Given the description of an element on the screen output the (x, y) to click on. 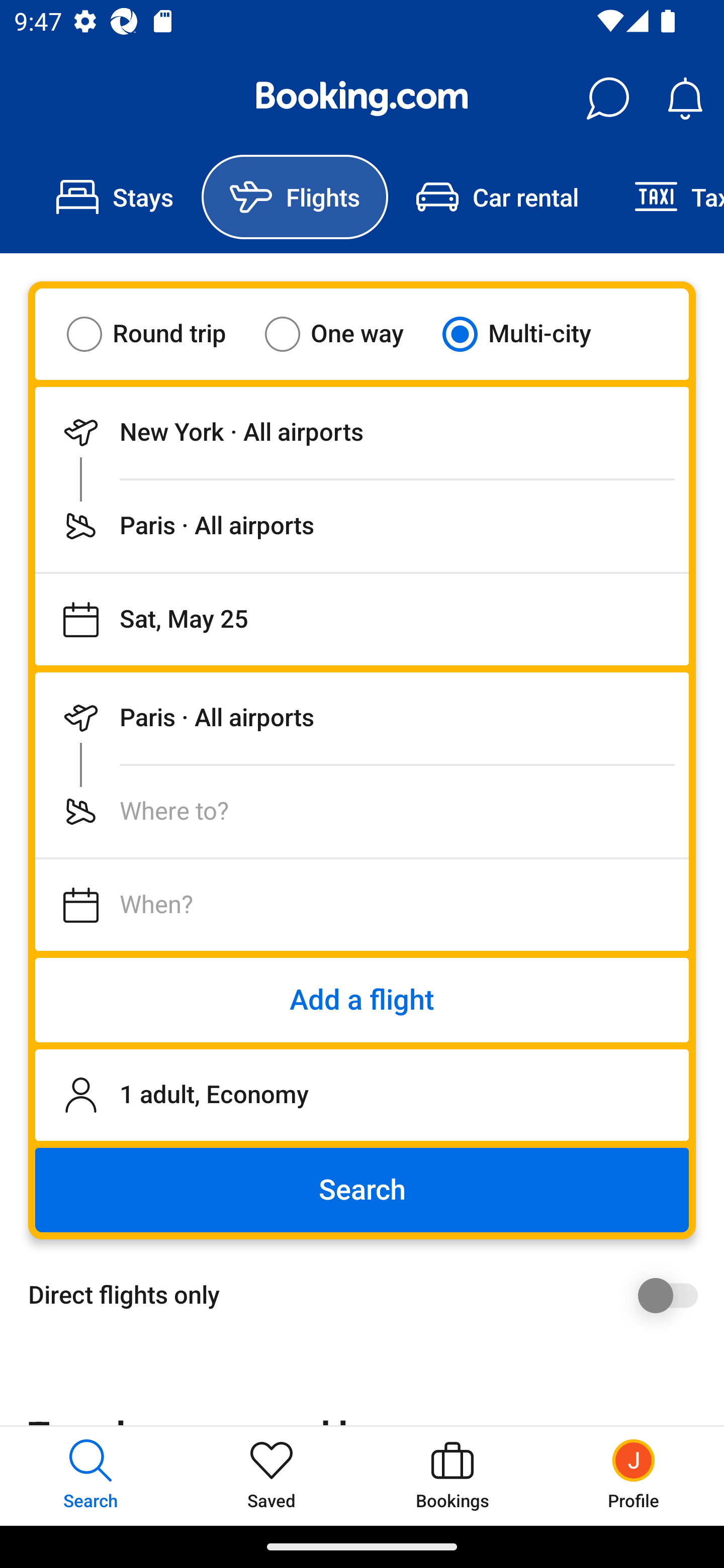
Messages (607, 98)
Notifications (685, 98)
Stays (114, 197)
Flights (294, 197)
Car rental (497, 197)
Taxi (665, 197)
Round trip (158, 333)
One way (346, 333)
Flight 1, departing from New York · All airports (361, 432)
Flight 1, flying to Paris · All airports (361, 525)
Flight 1 departing on Sat, May 25 (361, 618)
Flight 2, departing from Paris · All airports (361, 717)
Flight 2, flying to  (361, 811)
Flight 2 departing on Sat, May 25 (361, 904)
Add a flight (361, 1000)
1 adult, Economy (361, 1094)
Search (361, 1189)
Direct flights only (369, 1294)
Saved (271, 1475)
Bookings (452, 1475)
Profile (633, 1475)
